Given the description of an element on the screen output the (x, y) to click on. 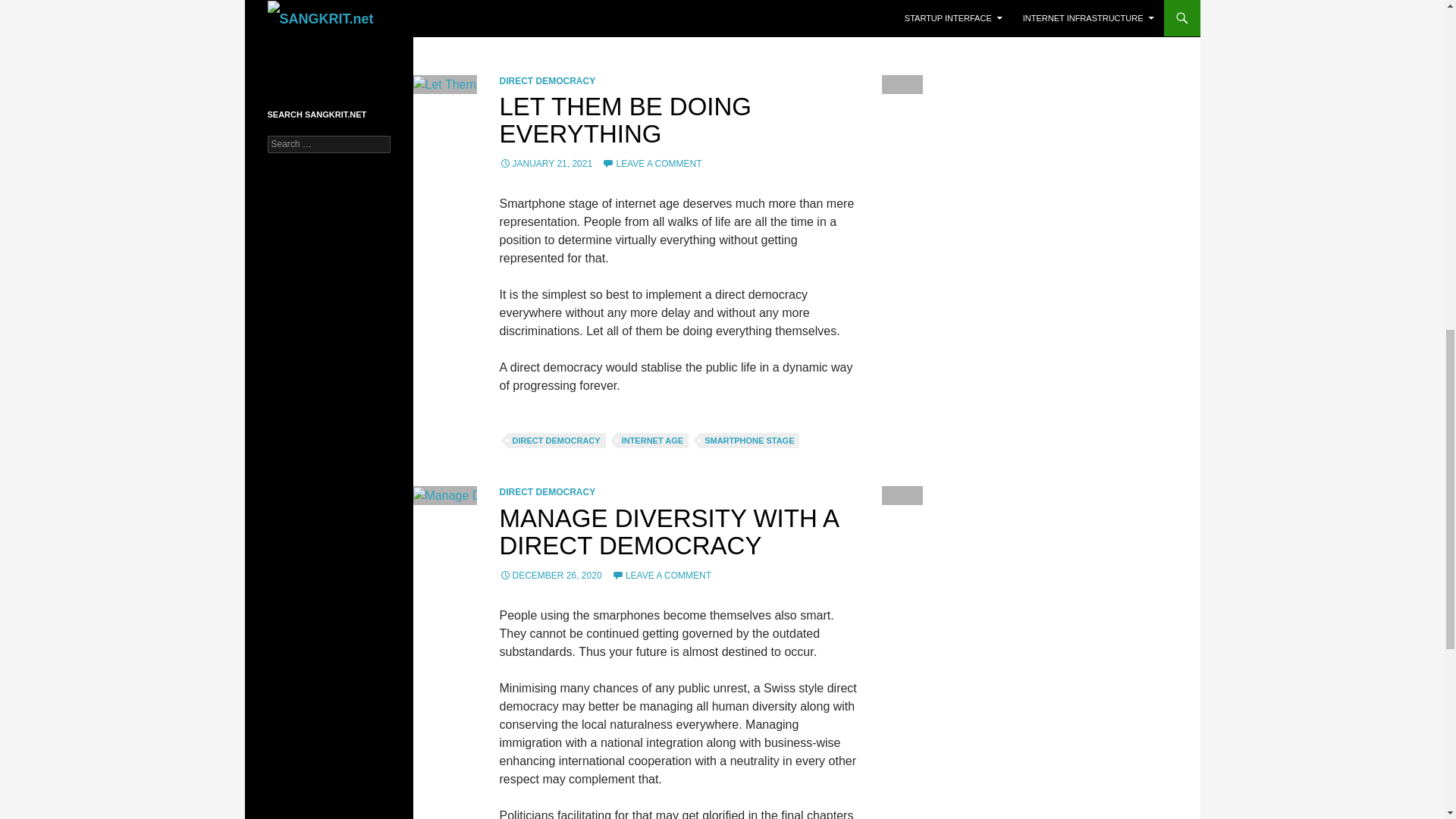
MOTHERLAND (719, 11)
MOTHER TOUNGE (548, 11)
SMARTPHONE STAGE (556, 29)
LEGISLATURE (730, 0)
WOMEN (639, 29)
MOTHERHOOD (638, 11)
DIRECT DEMOCRACY (547, 81)
